Given the description of an element on the screen output the (x, y) to click on. 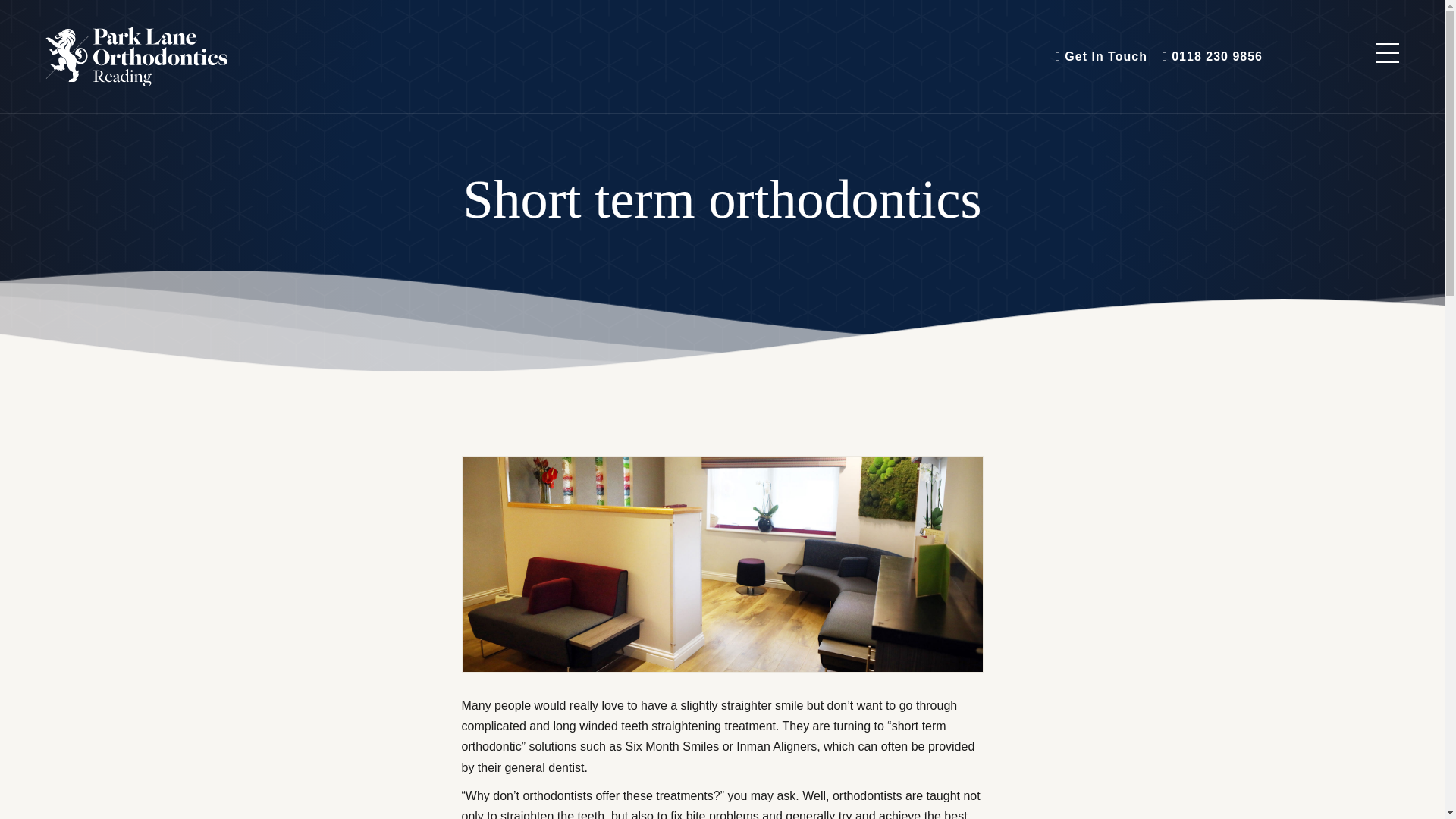
0118 230 9856 (1211, 56)
Get In Touch (1101, 56)
